Given the description of an element on the screen output the (x, y) to click on. 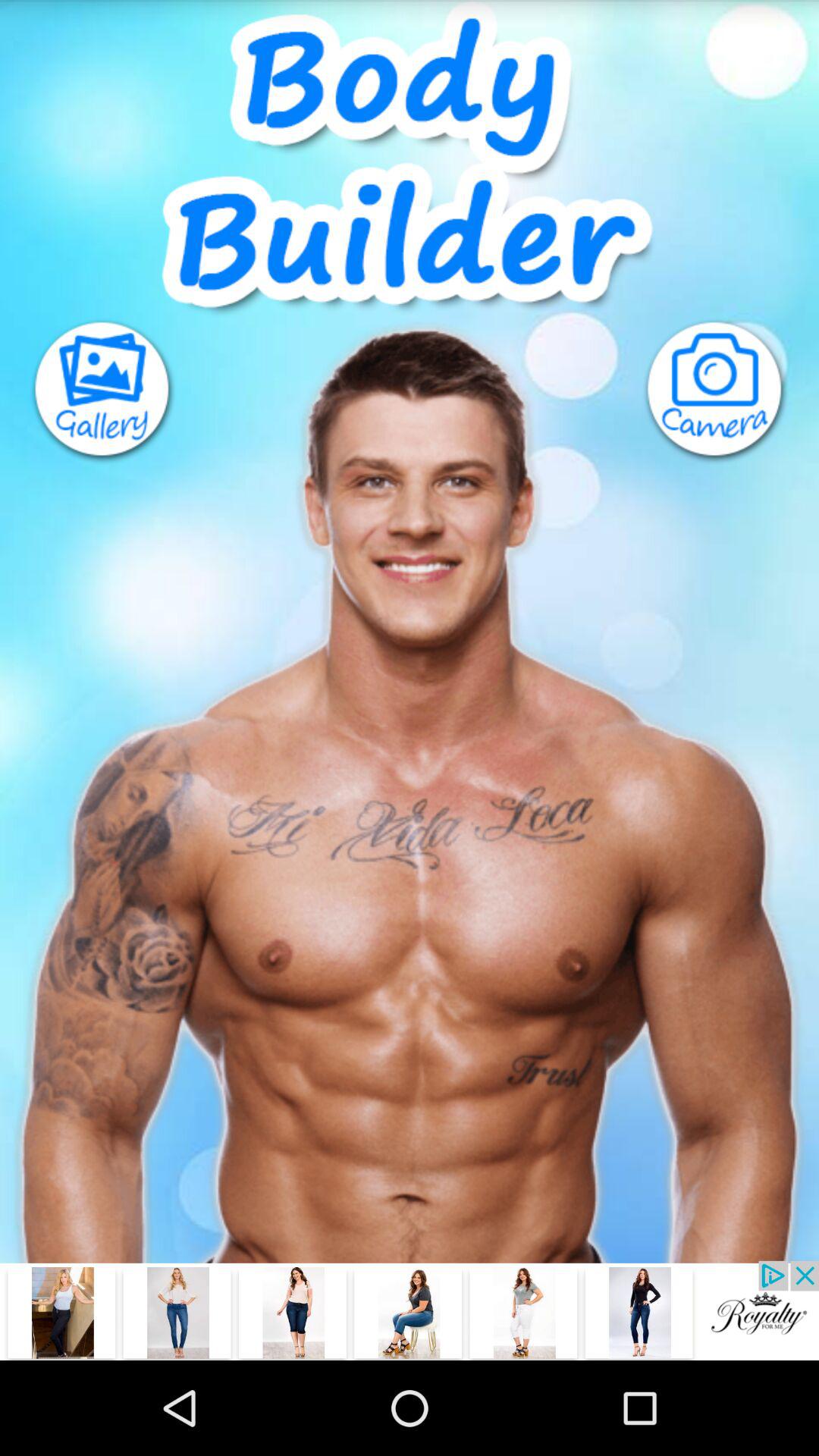
gallery photos (88, 391)
